Given the description of an element on the screen output the (x, y) to click on. 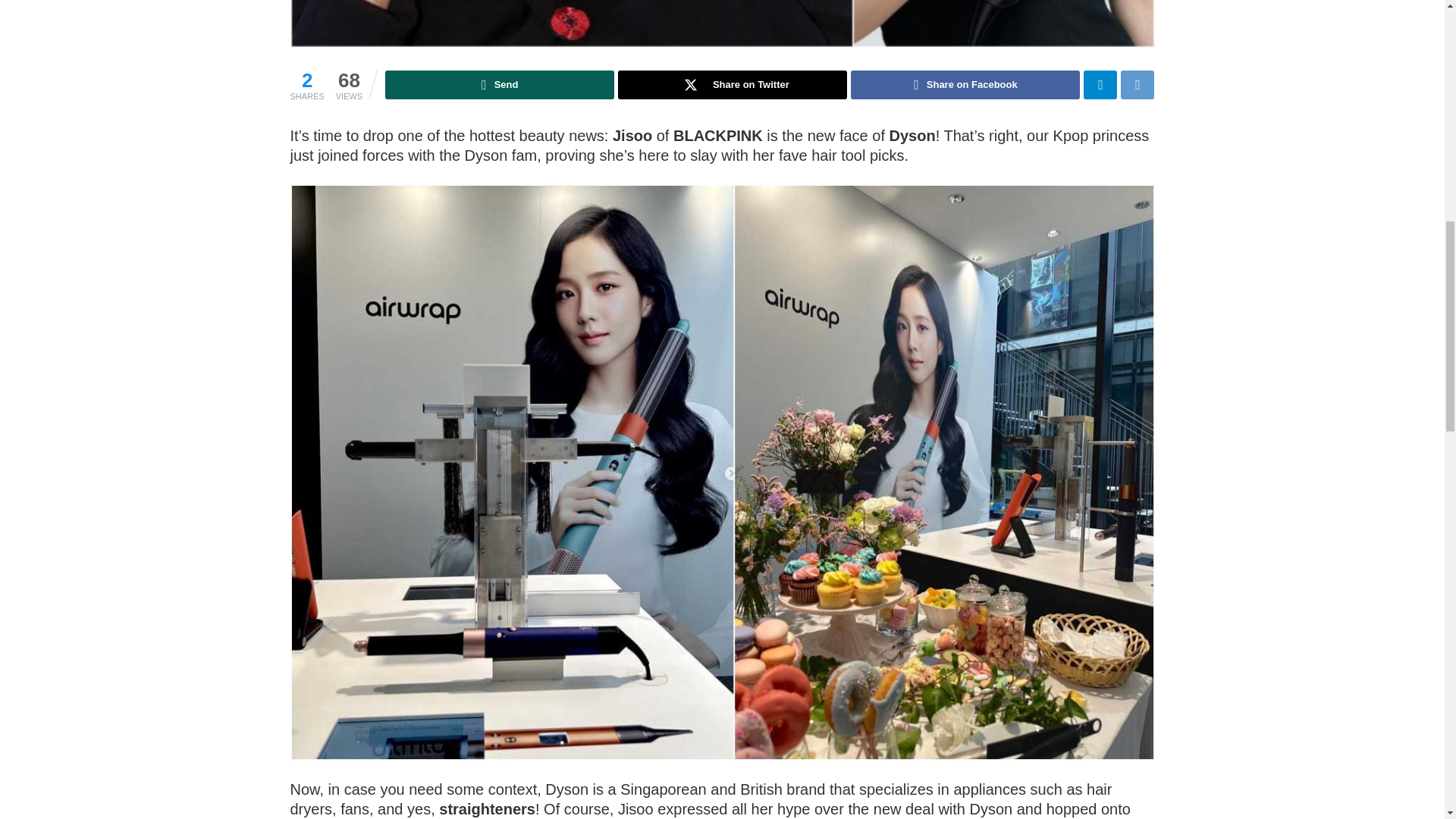
Share on Twitter (732, 84)
Send (499, 84)
Share on Facebook (965, 84)
